Given the description of an element on the screen output the (x, y) to click on. 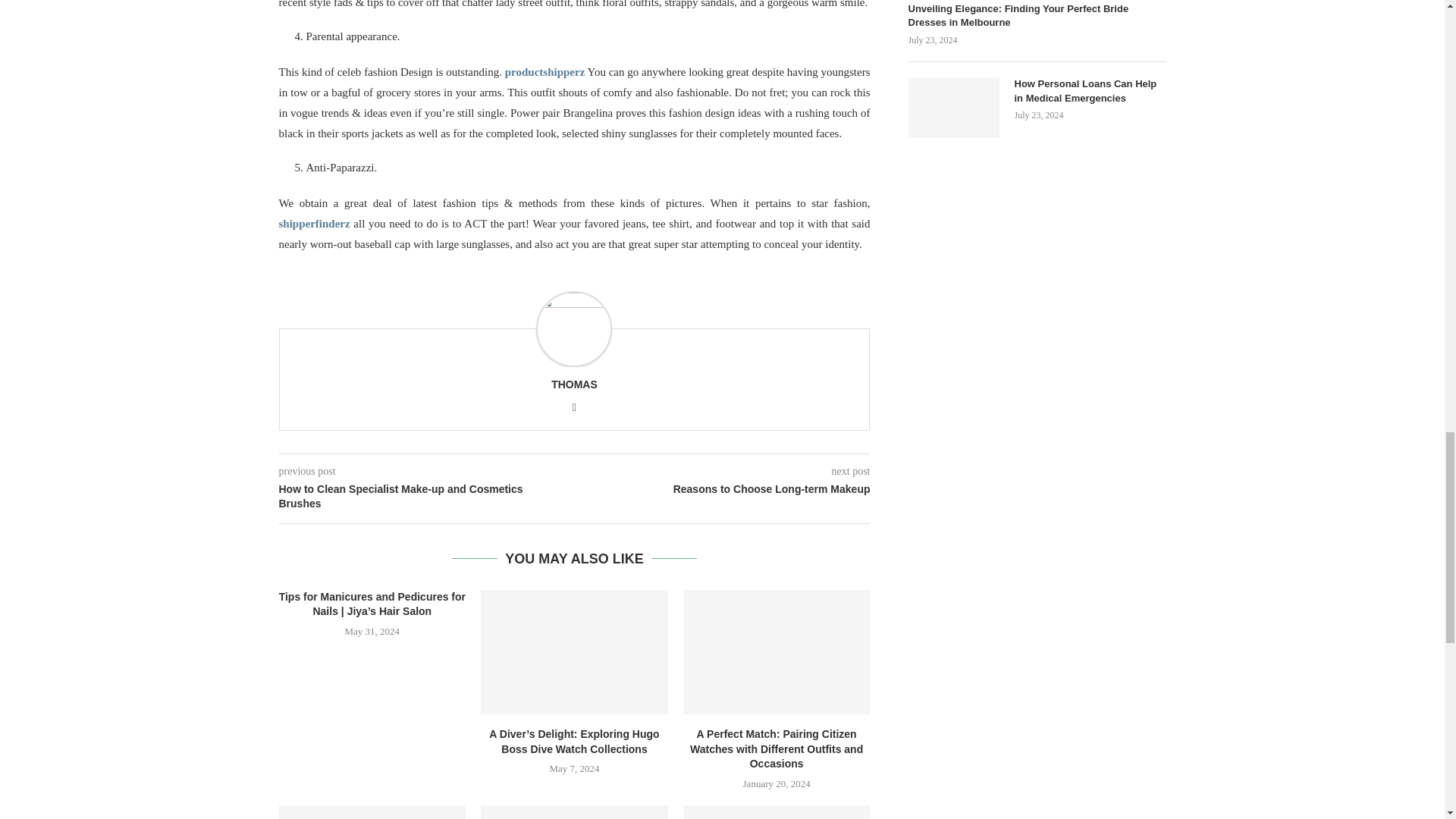
7 Jewelry Designs Inspired by Nature (372, 812)
How Personal Loans Can Help in Medical Emergencies (953, 107)
Exactly how to Begin Your Own Effective Fashion Label? (776, 812)
Author thomas (573, 383)
